Given the description of an element on the screen output the (x, y) to click on. 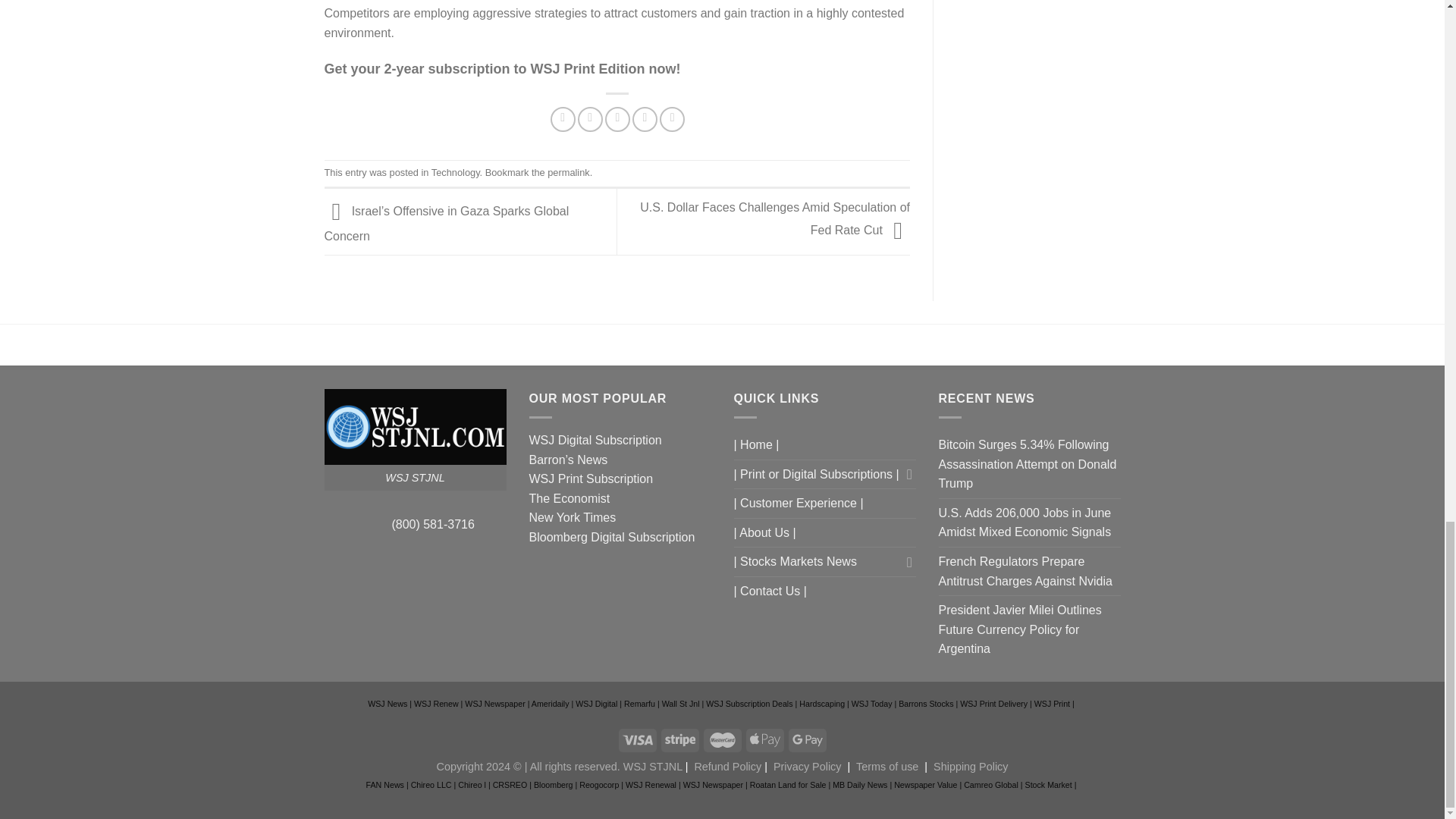
Share on Twitter (590, 119)
Email to a Friend (617, 119)
Share on LinkedIn (671, 119)
Share on Facebook (562, 119)
Pin on Pinterest (644, 119)
